Given the description of an element on the screen output the (x, y) to click on. 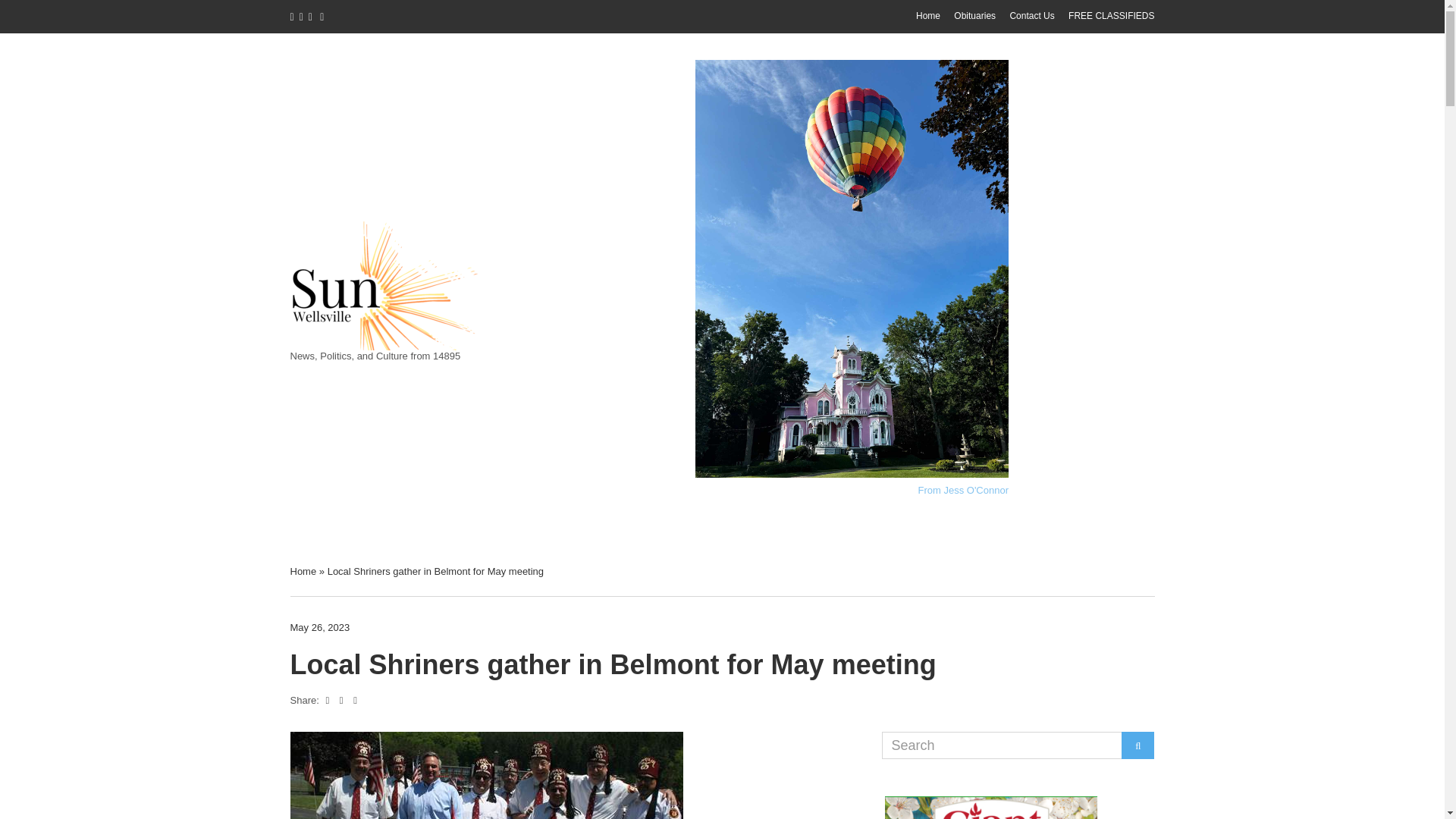
Contact Us (1031, 15)
SEARCH (1137, 745)
FREE CLASSIFIEDS (1111, 15)
Obituaries (974, 15)
Home (927, 15)
From Jess O'Connor (963, 490)
Home (302, 571)
